Given the description of an element on the screen output the (x, y) to click on. 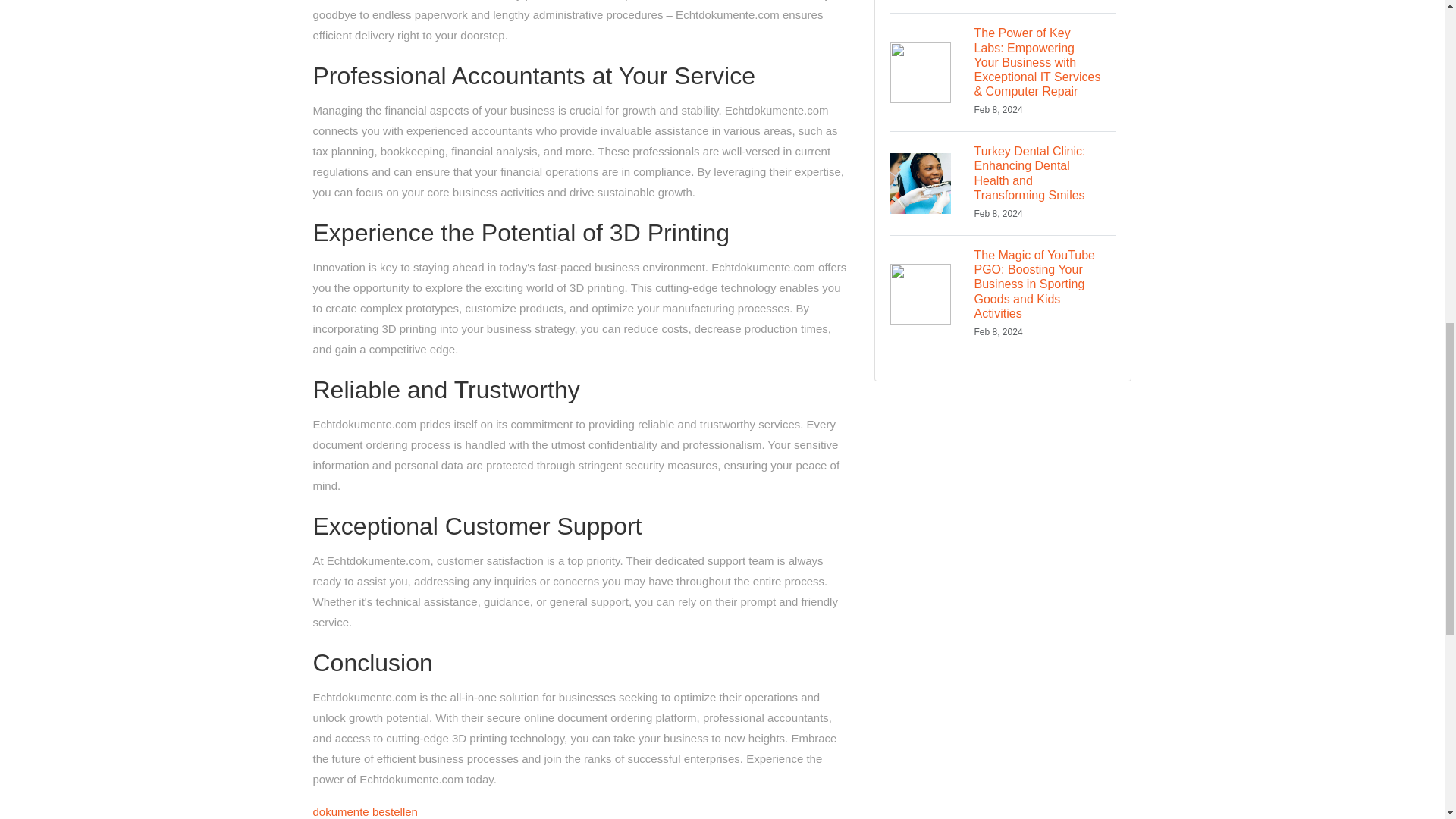
dokumente bestellen (364, 811)
